Given the description of an element on the screen output the (x, y) to click on. 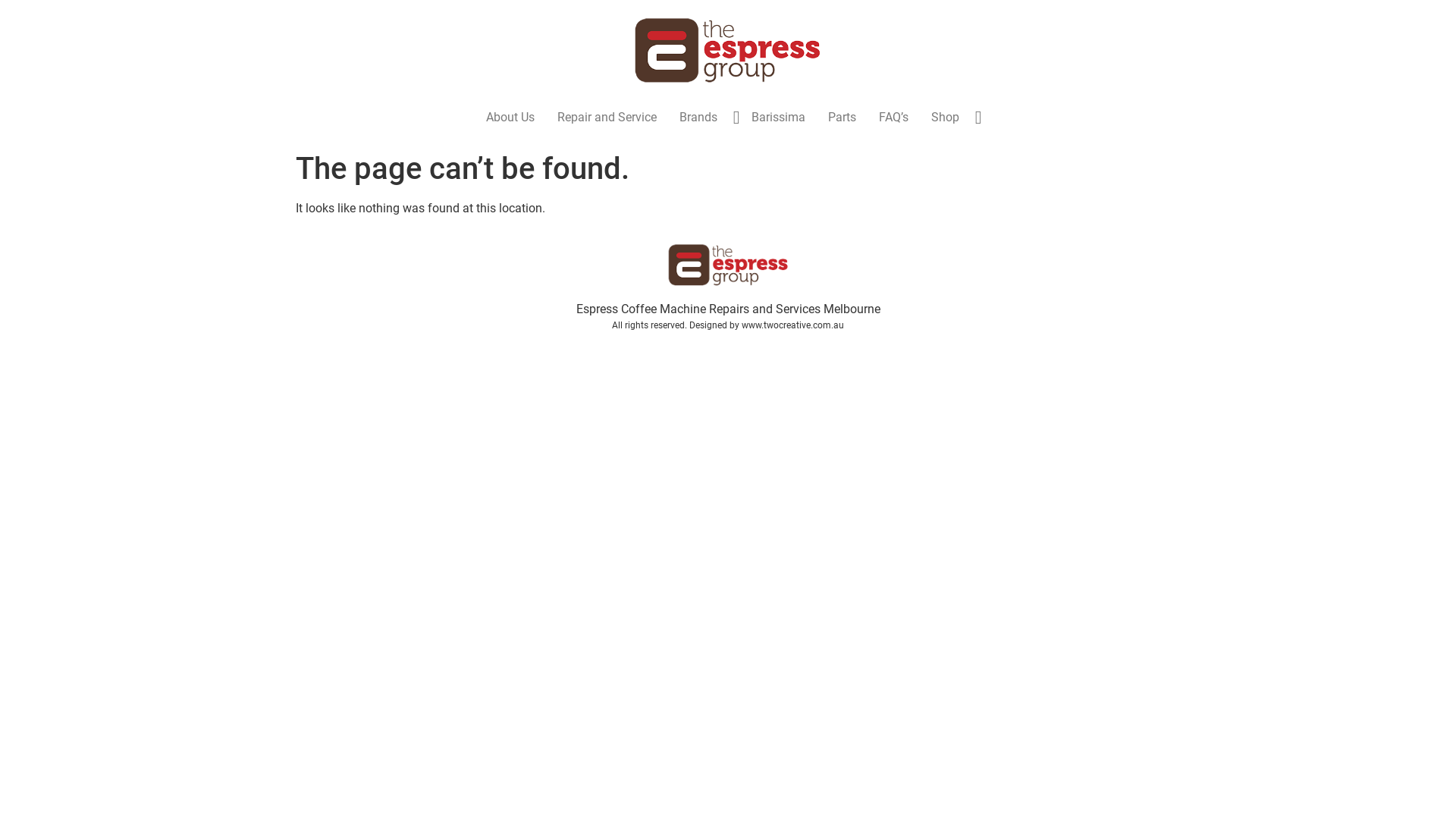
Repair and Service Element type: text (607, 117)
Parts Element type: text (840, 117)
Shop Element type: text (944, 117)
Brands Element type: text (697, 117)
Barissima Element type: text (778, 117)
About Us Element type: text (510, 117)
